Given the description of an element on the screen output the (x, y) to click on. 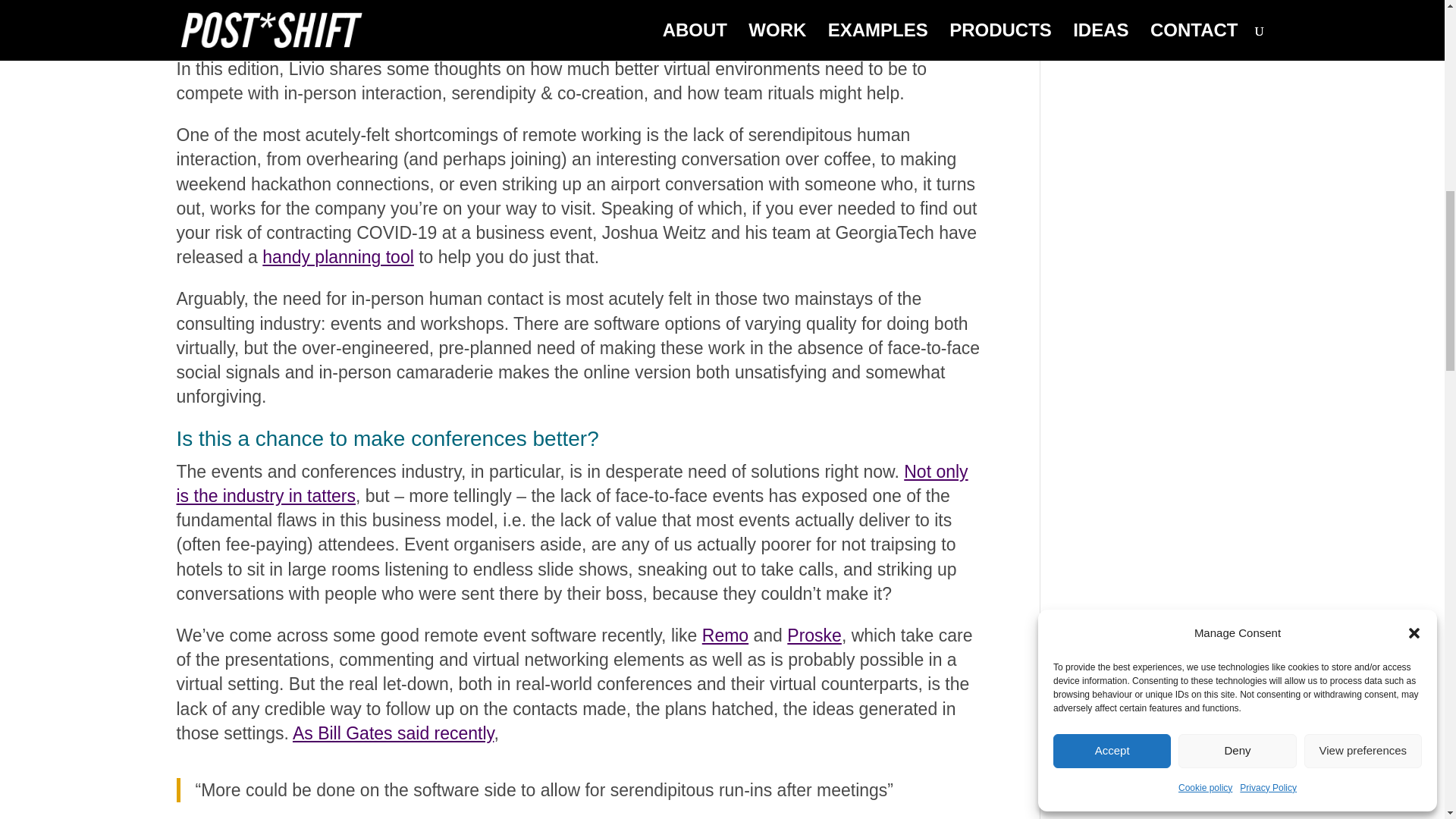
Proske (814, 635)
Remo (724, 635)
handy planning tool (337, 256)
As Bill Gates said recently (392, 732)
Not only is the industry in tatters (572, 483)
